Given the description of an element on the screen output the (x, y) to click on. 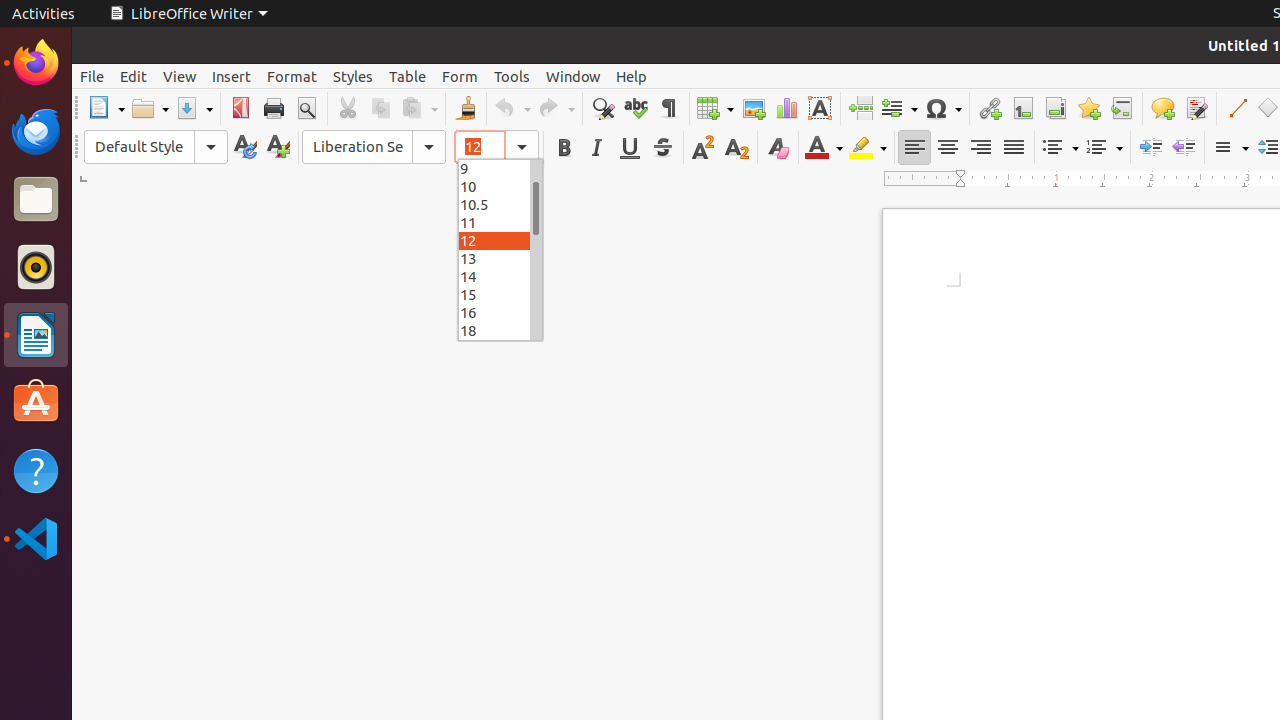
Print Element type: push-button (273, 108)
Track Changes Functions Element type: toggle-button (1195, 108)
Bullets Element type: push-button (1060, 147)
Symbol Element type: push-button (943, 108)
Styles Element type: menu (353, 76)
